Given the description of an element on the screen output the (x, y) to click on. 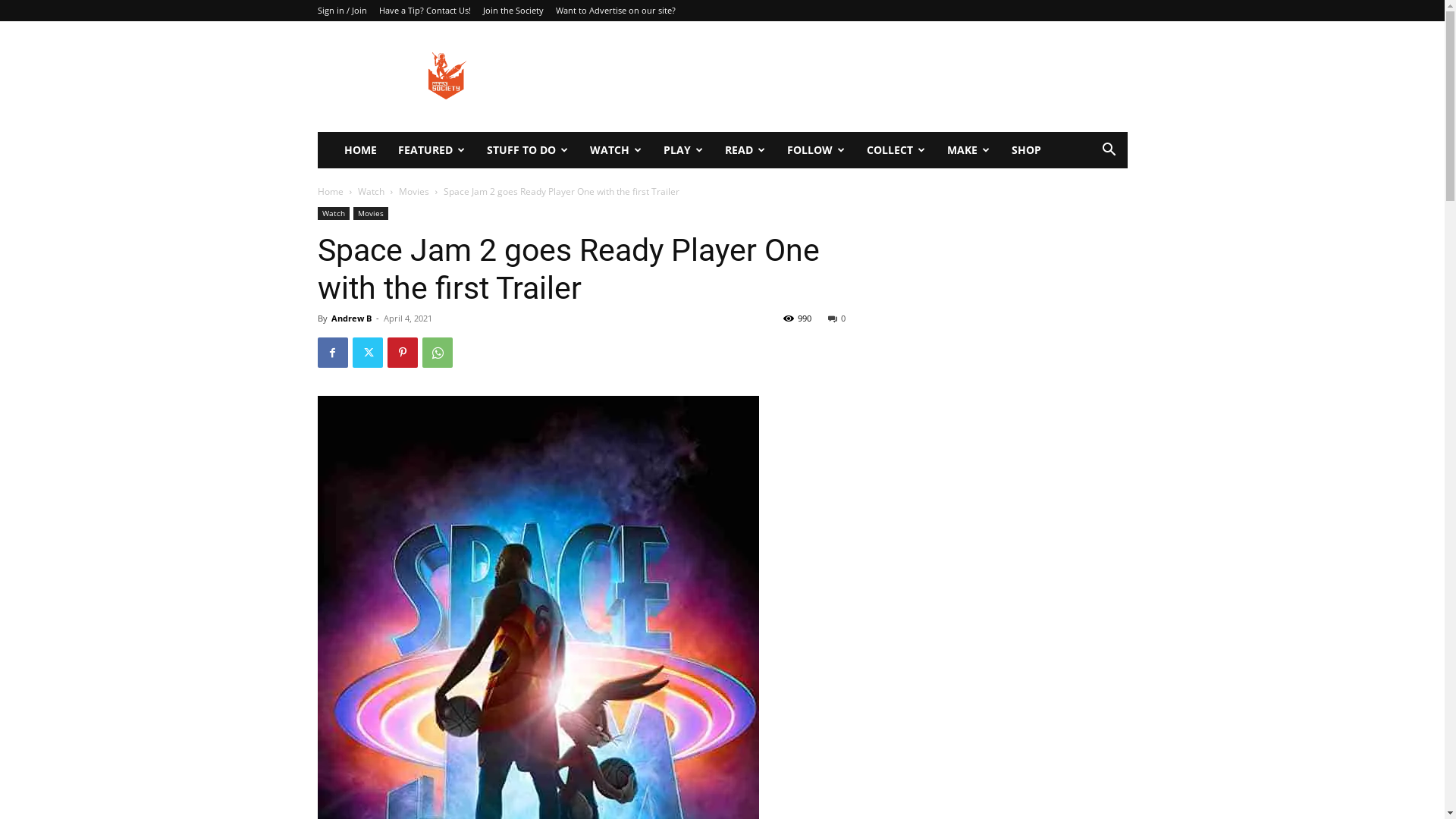
Pinterest Element type: hover (401, 352)
0 Element type: text (836, 317)
MAKE Element type: text (967, 149)
Search Element type: text (1085, 210)
Watch Element type: text (332, 213)
Twitter Element type: hover (366, 352)
Want to Advertise on our site? Element type: text (614, 9)
PLAY Element type: text (682, 149)
SHOP Element type: text (1026, 149)
COLLECT Element type: text (895, 149)
Sign in / Join Element type: text (341, 9)
Home Element type: text (329, 191)
Movies Element type: text (413, 191)
HOME Element type: text (360, 149)
FEATURED Element type: text (430, 149)
Have a Tip? Contact Us! Element type: text (424, 9)
Advertisement Element type: hover (850, 76)
Andrew B Element type: text (350, 317)
WATCH Element type: text (615, 149)
Facebook Element type: hover (331, 352)
FOLLOW Element type: text (816, 149)
Watch Element type: text (370, 191)
WhatsApp Element type: hover (436, 352)
Movies Element type: text (370, 213)
Join the Society Element type: text (512, 9)
STUFF TO DO Element type: text (527, 149)
READ Element type: text (745, 149)
